Given the description of an element on the screen output the (x, y) to click on. 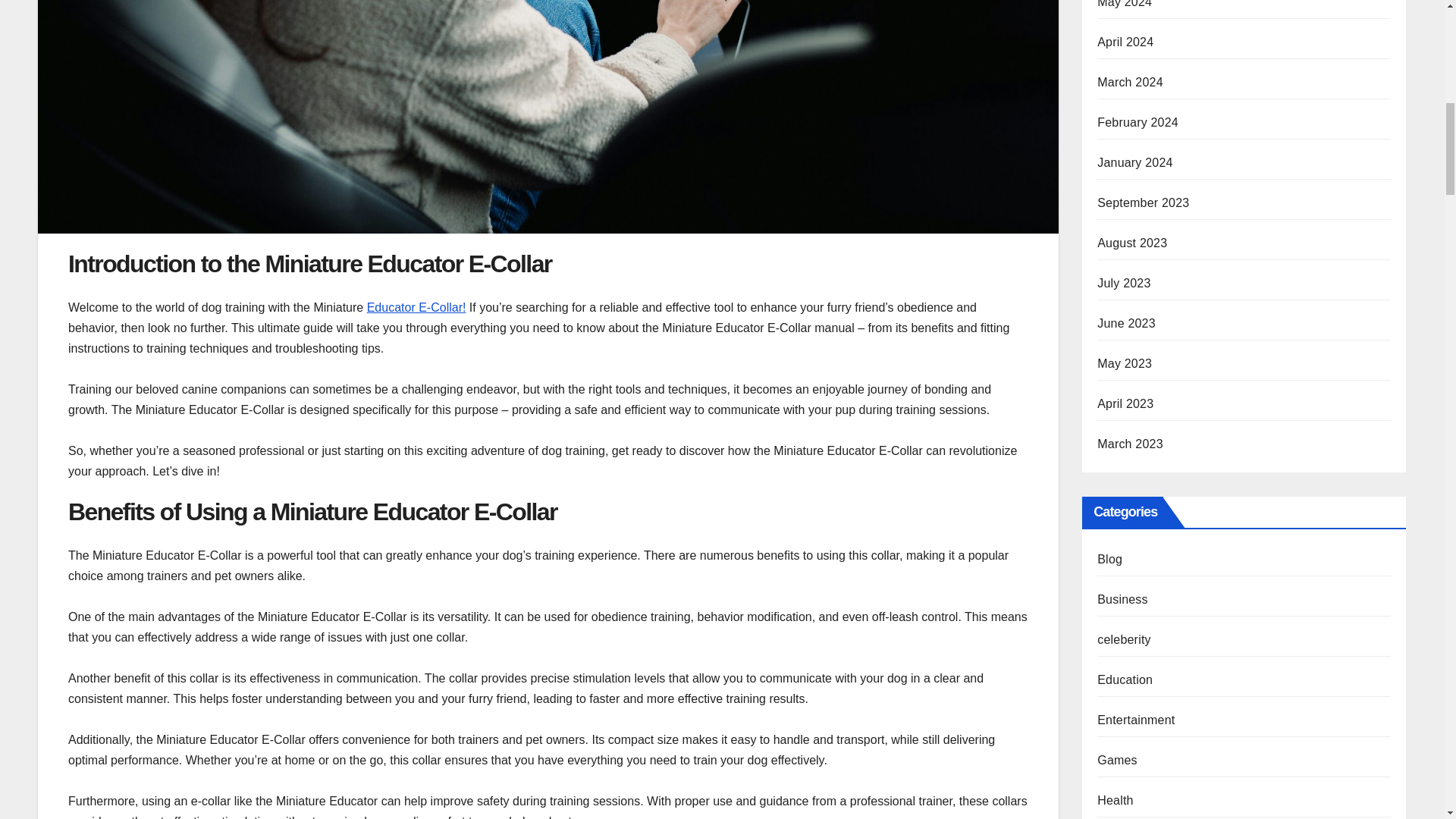
Educator E-Collar! (415, 307)
